Given the description of an element on the screen output the (x, y) to click on. 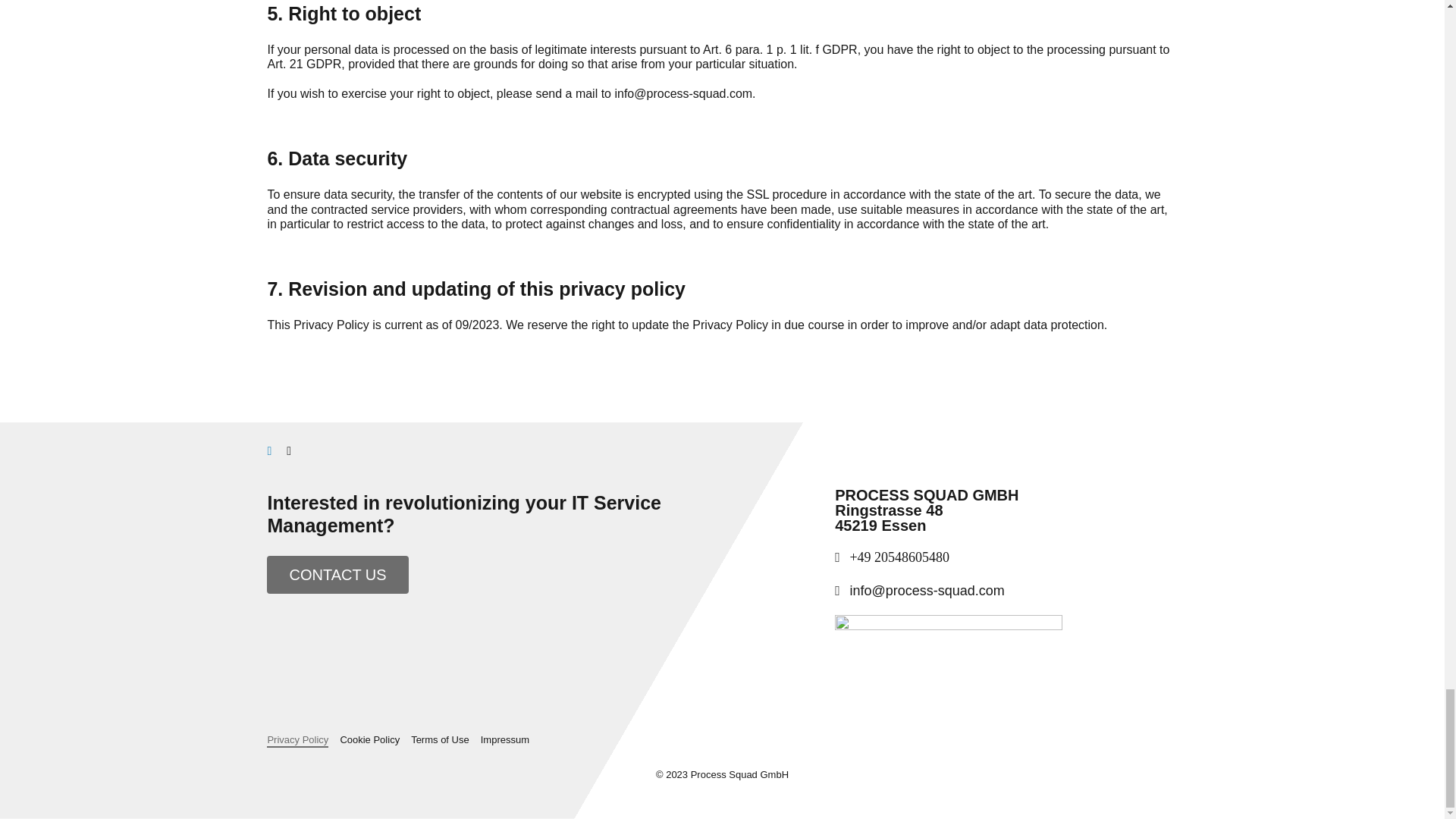
CONTACT US (336, 574)
Cookie Policy (368, 740)
Terms of Use (439, 740)
Impressum (504, 740)
Privacy Policy (297, 740)
